Given the description of an element on the screen output the (x, y) to click on. 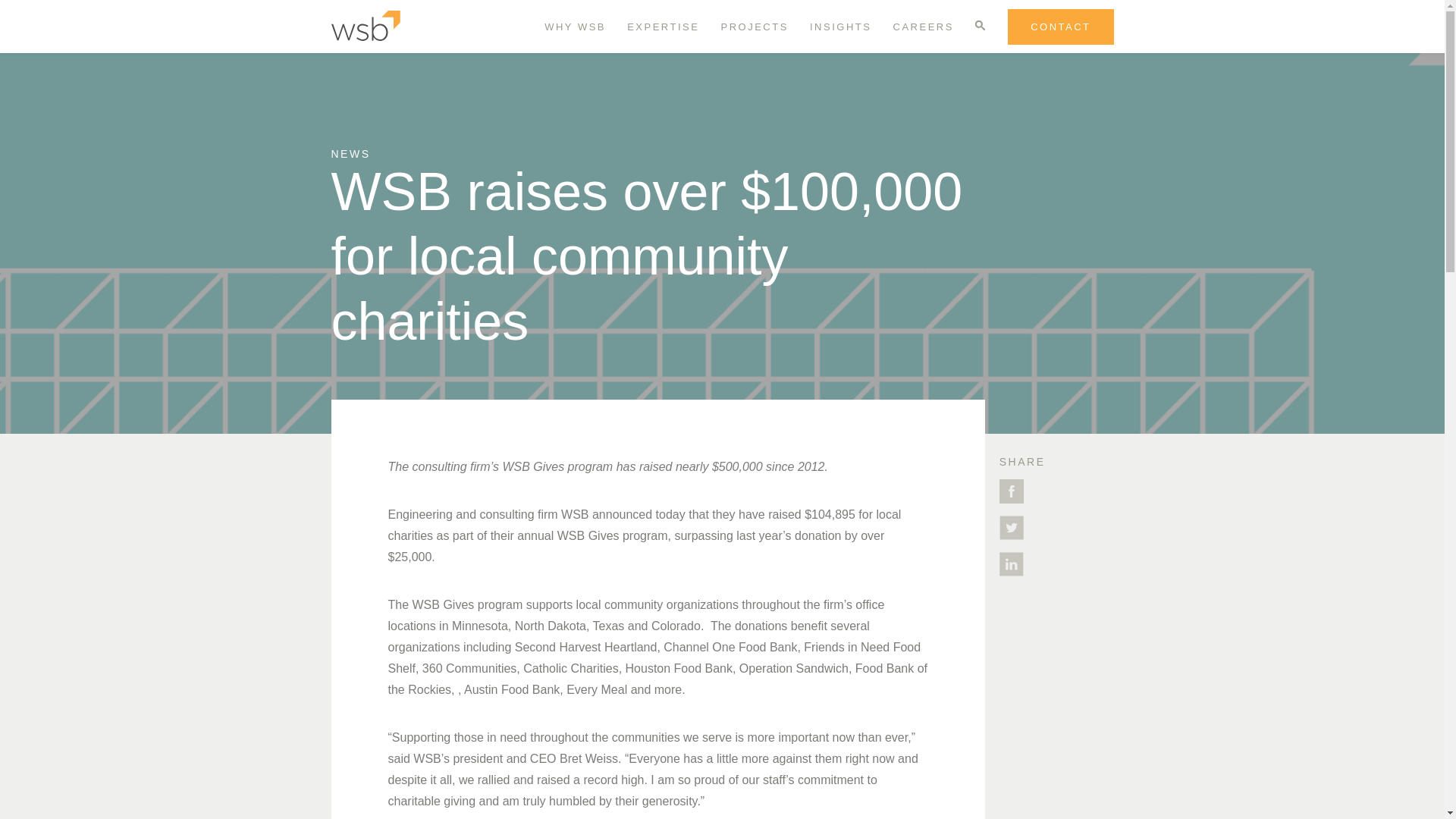
CAREERS (923, 26)
CONTACT (1060, 27)
PROJECTS (754, 26)
INSIGHTS (839, 26)
EXPERTISE (662, 26)
WHY WSB (574, 26)
